Given the description of an element on the screen output the (x, y) to click on. 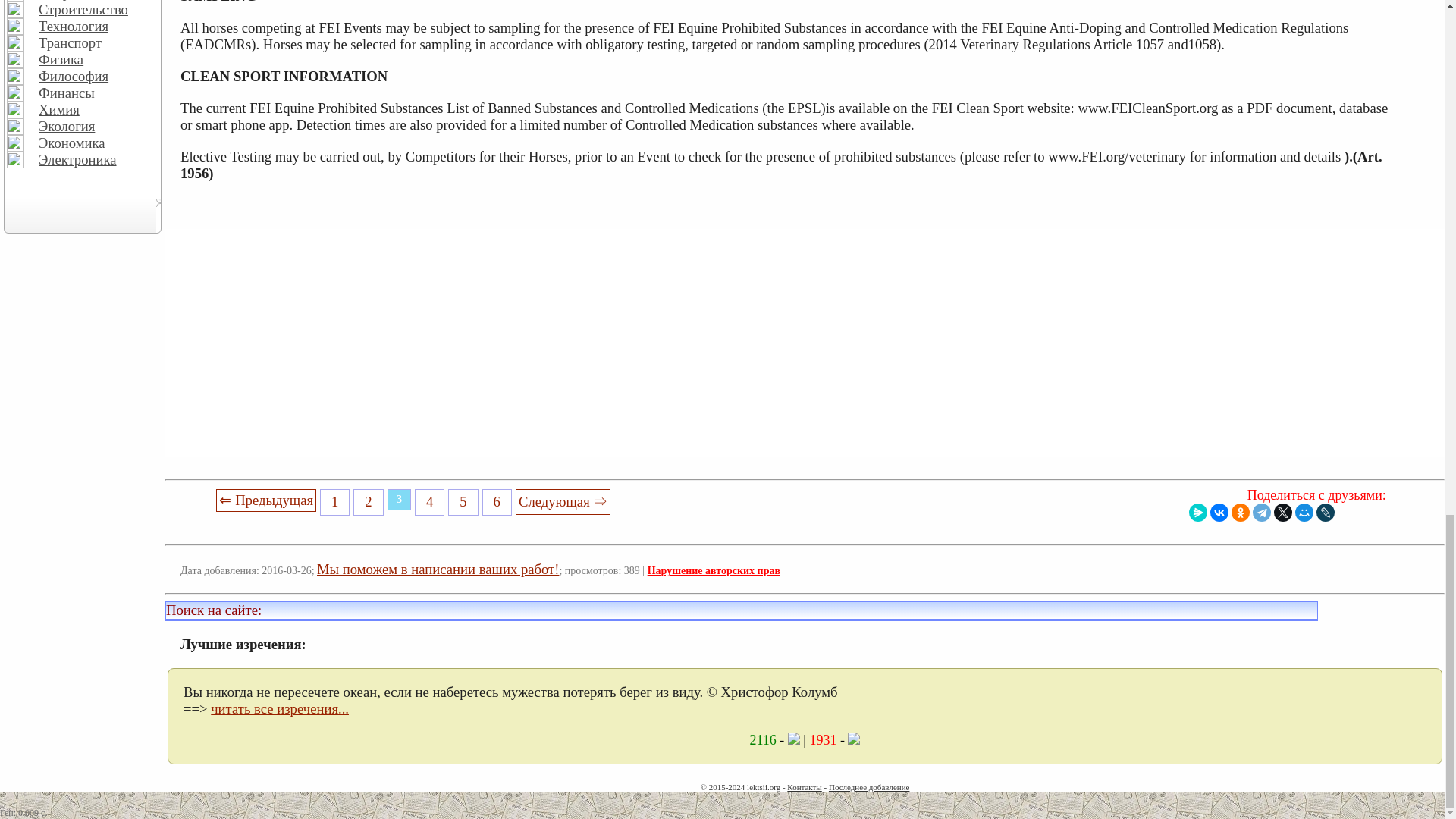
Telegram (1261, 512)
Twitter (1283, 512)
LiveJournal (1325, 512)
